Given the description of an element on the screen output the (x, y) to click on. 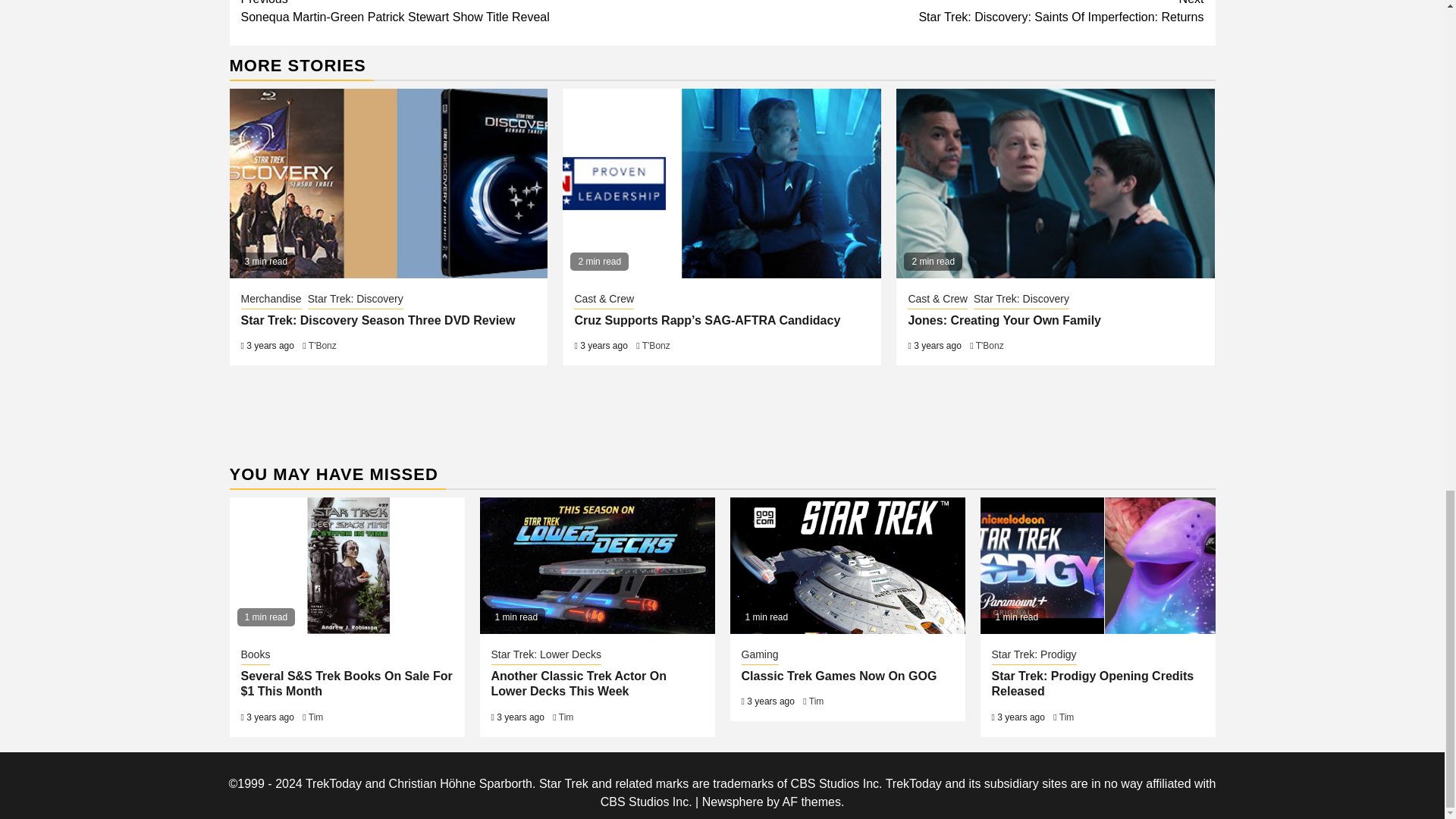
Merchandise (271, 300)
Star Trek: Discovery Season Three DVD Review (378, 319)
Star Trek: Discovery (355, 300)
T'Bonz (963, 13)
